Given the description of an element on the screen output the (x, y) to click on. 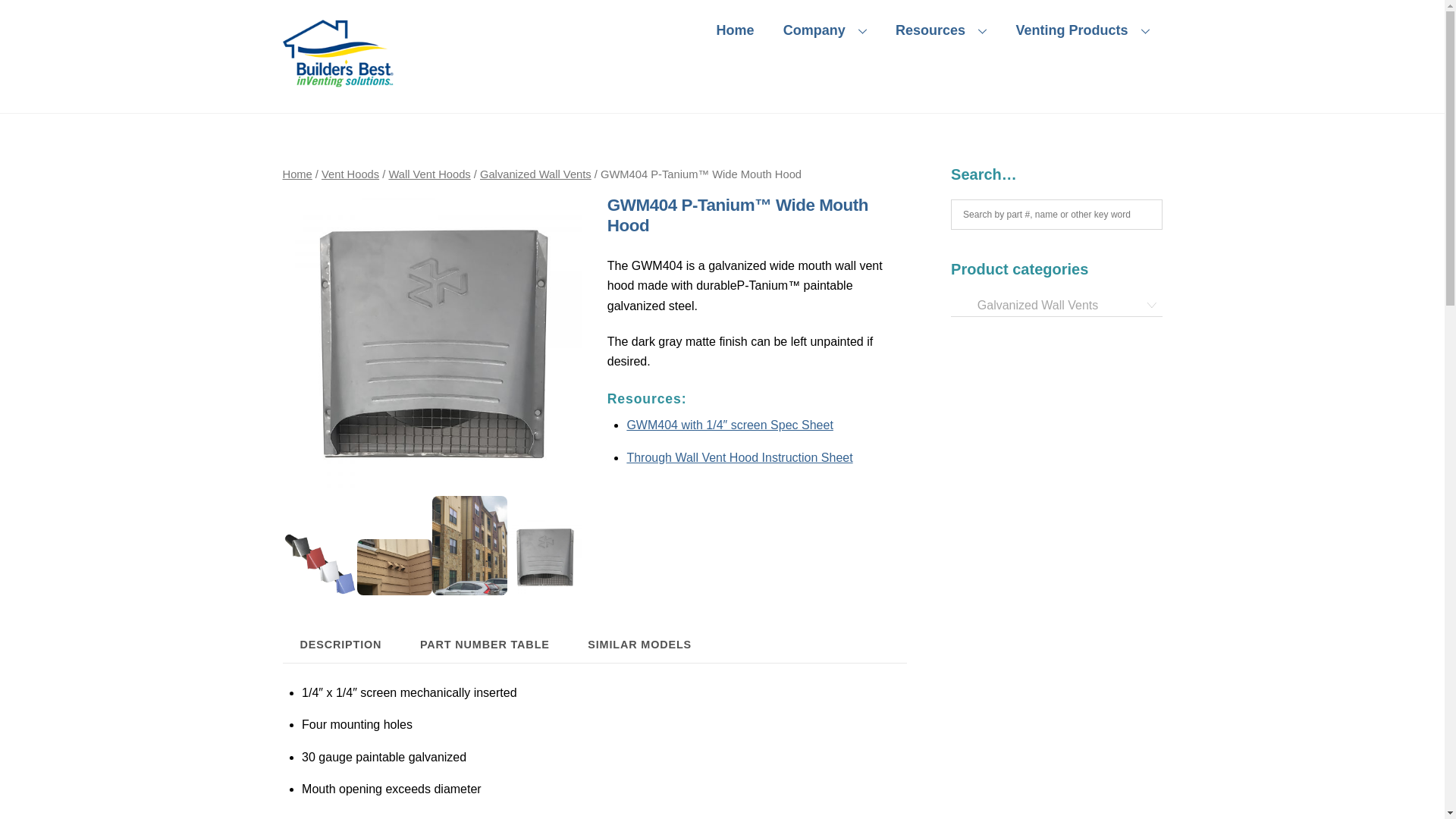
Resources (940, 30)
Wall-GWM271-group-ptanium-color.jpg (319, 562)
Venting Products (1082, 30)
logo200 (339, 52)
Home (735, 30)
Company (824, 30)
Builder's Best (721, 30)
